Given the description of an element on the screen output the (x, y) to click on. 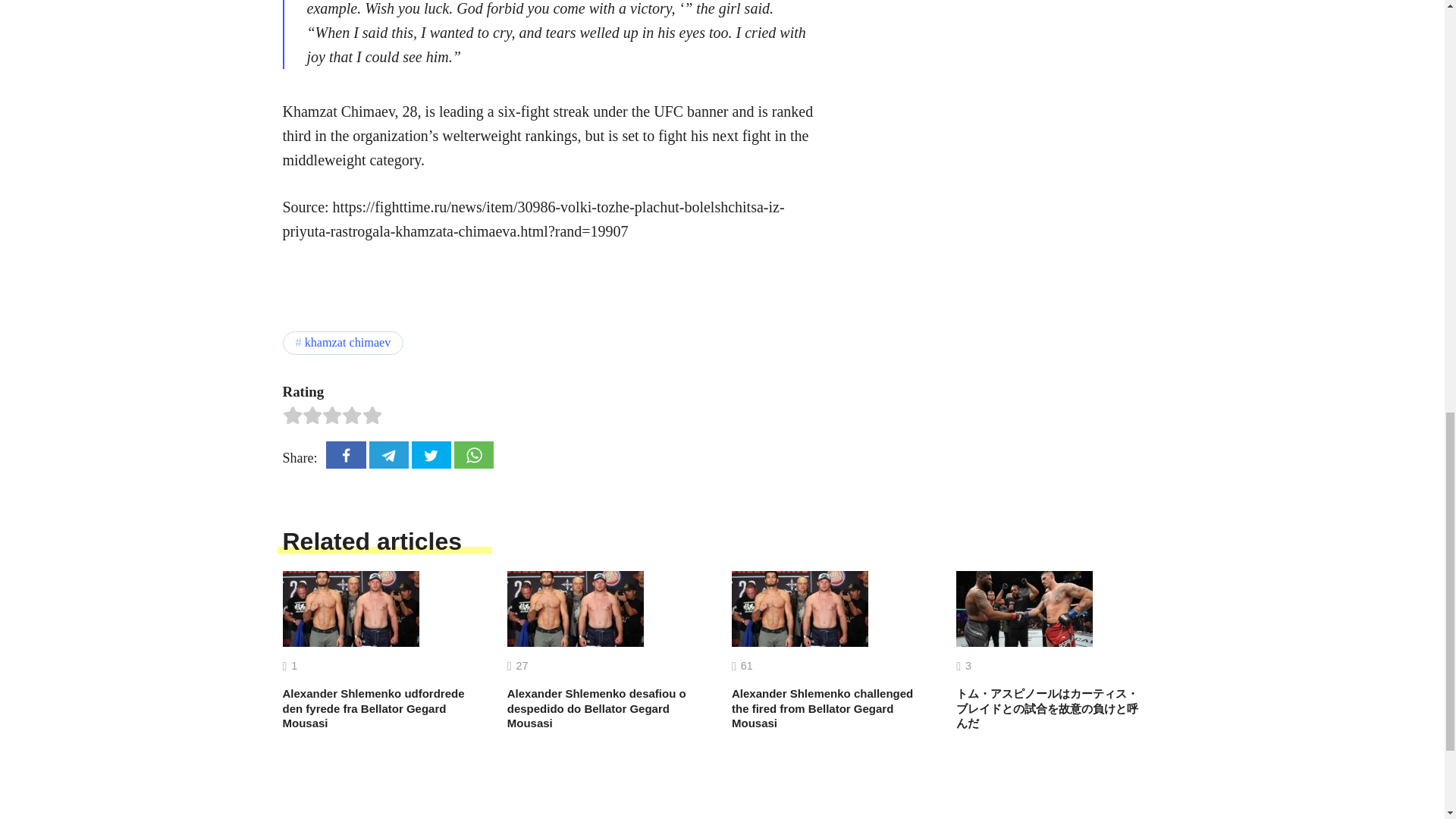
khamzat chimaev (342, 342)
